Given the description of an element on the screen output the (x, y) to click on. 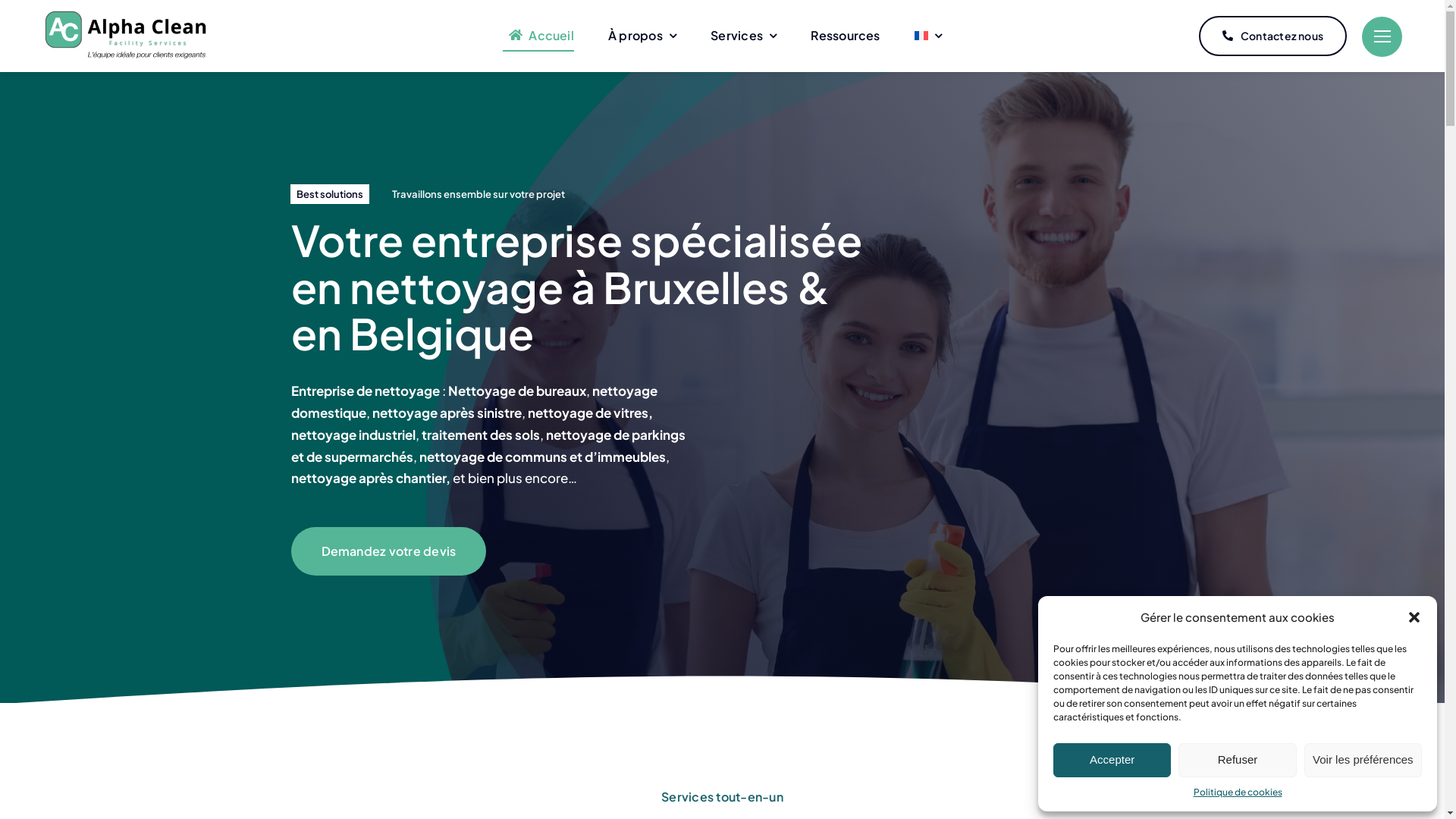
Politique de cookies Element type: text (1237, 792)
Accueil Element type: text (538, 35)
Refuser Element type: text (1236, 760)
Accepter Element type: text (1111, 760)
Contactez nous Element type: text (1272, 35)
Demandez votre devis Element type: text (388, 550)
Services Element type: text (743, 35)
Ressources Element type: text (844, 35)
